Given the description of an element on the screen output the (x, y) to click on. 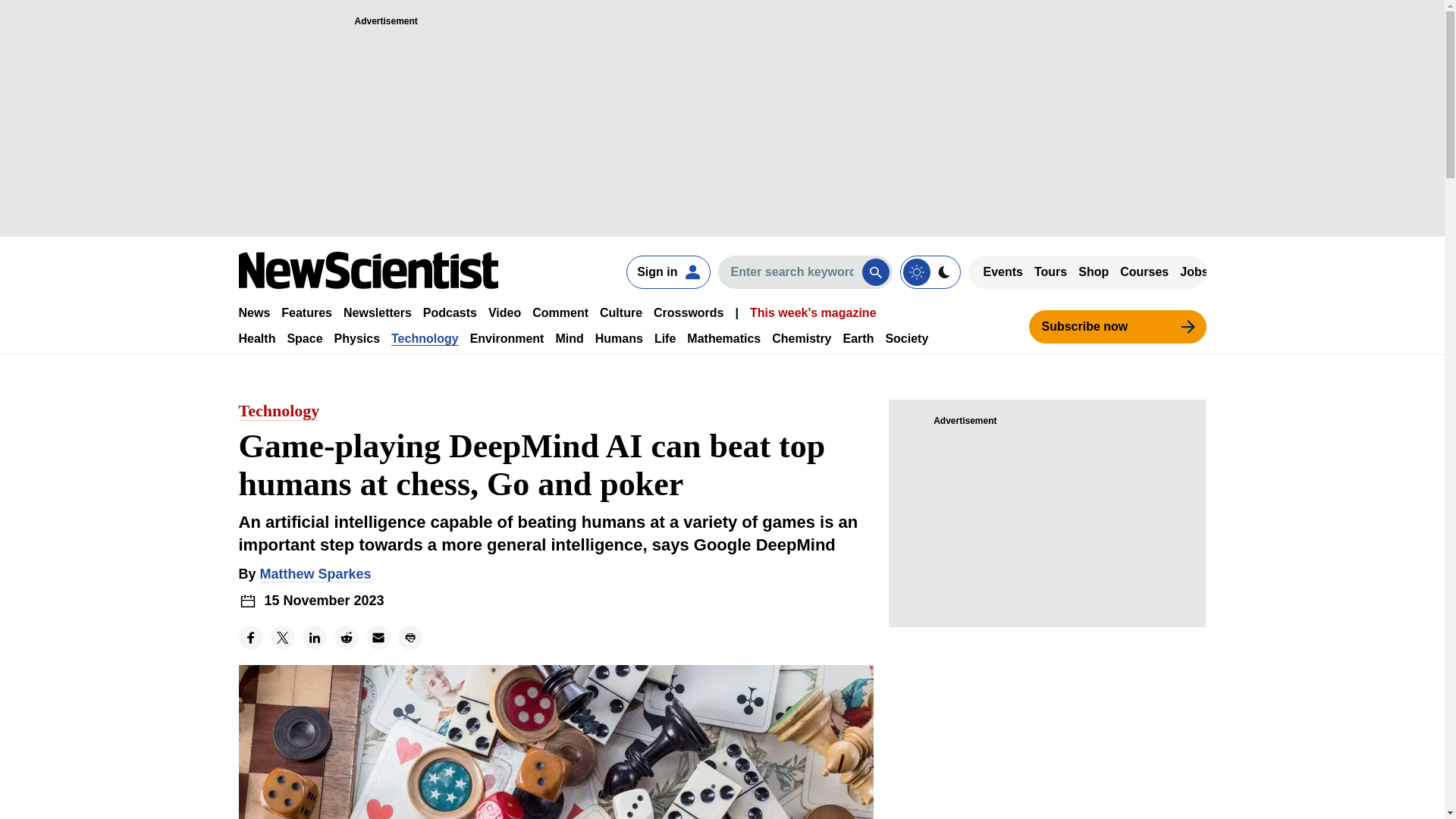
Physics (357, 338)
Events (1002, 272)
Comment (560, 313)
Jobs (1193, 272)
Subscribe now (1116, 326)
Podcasts (450, 313)
Humans (619, 338)
Sign In page link (668, 272)
Culture (620, 313)
Space (303, 338)
Tours (1050, 272)
Mathematics (723, 338)
News (253, 313)
Sign in (668, 272)
Calendar icon (247, 600)
